Given the description of an element on the screen output the (x, y) to click on. 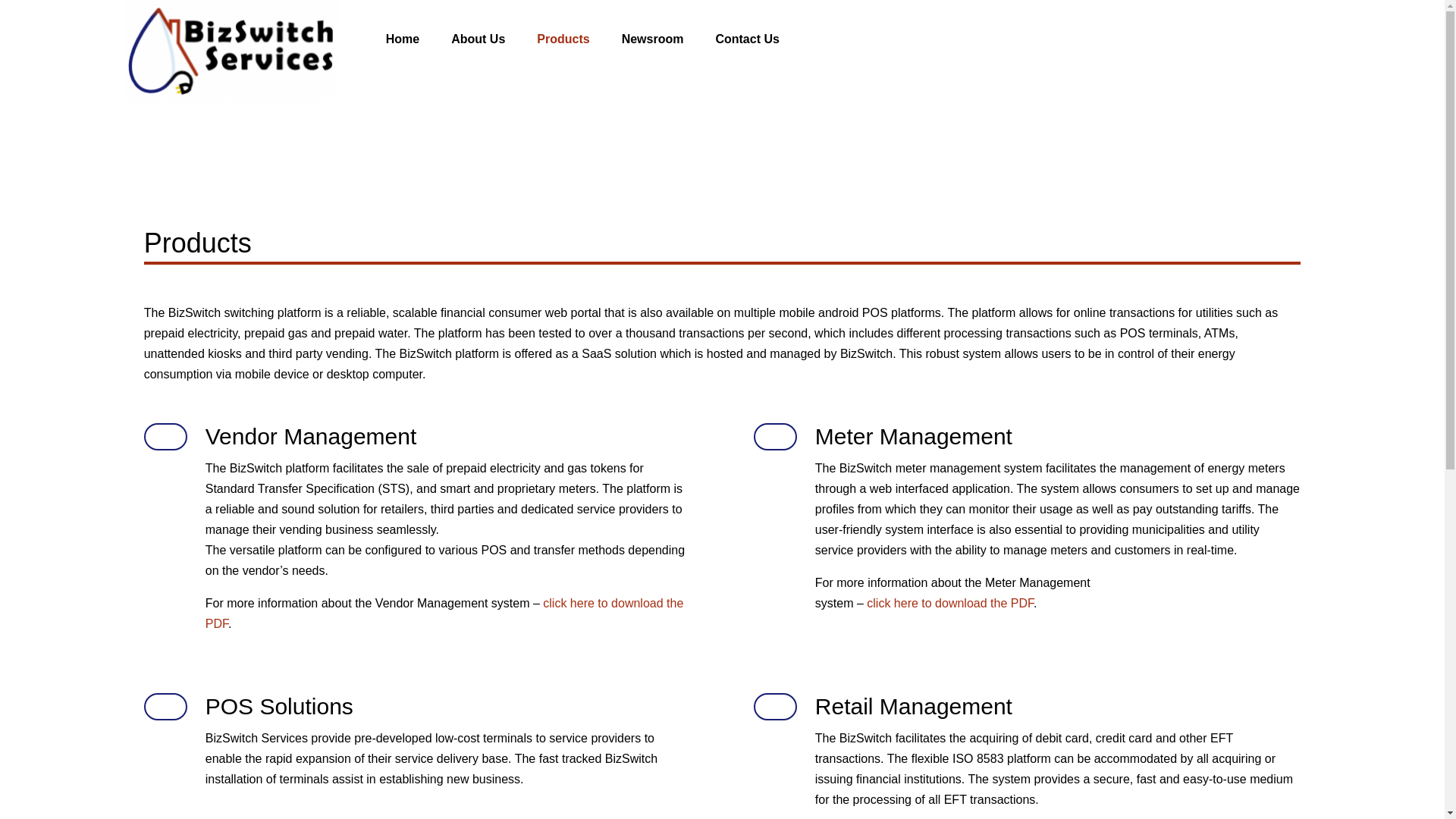
BizSwitch Services Ltd (231, 52)
click here to download the PDF (444, 613)
Products (579, 39)
Contact Us (762, 39)
Newsroom (668, 39)
click here to download the PDF (949, 603)
Home (418, 39)
About Us (494, 39)
